Given the description of an element on the screen output the (x, y) to click on. 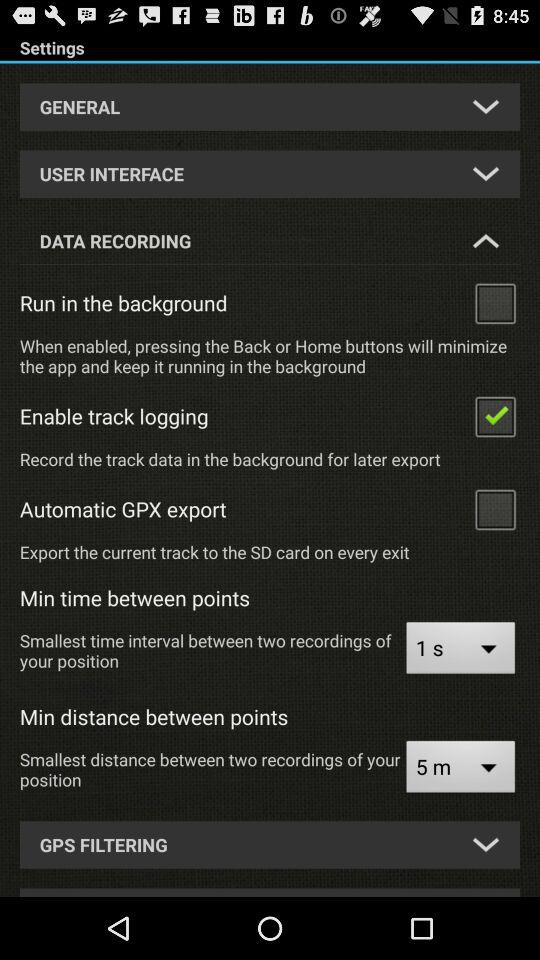
click on the box (495, 508)
